Given the description of an element on the screen output the (x, y) to click on. 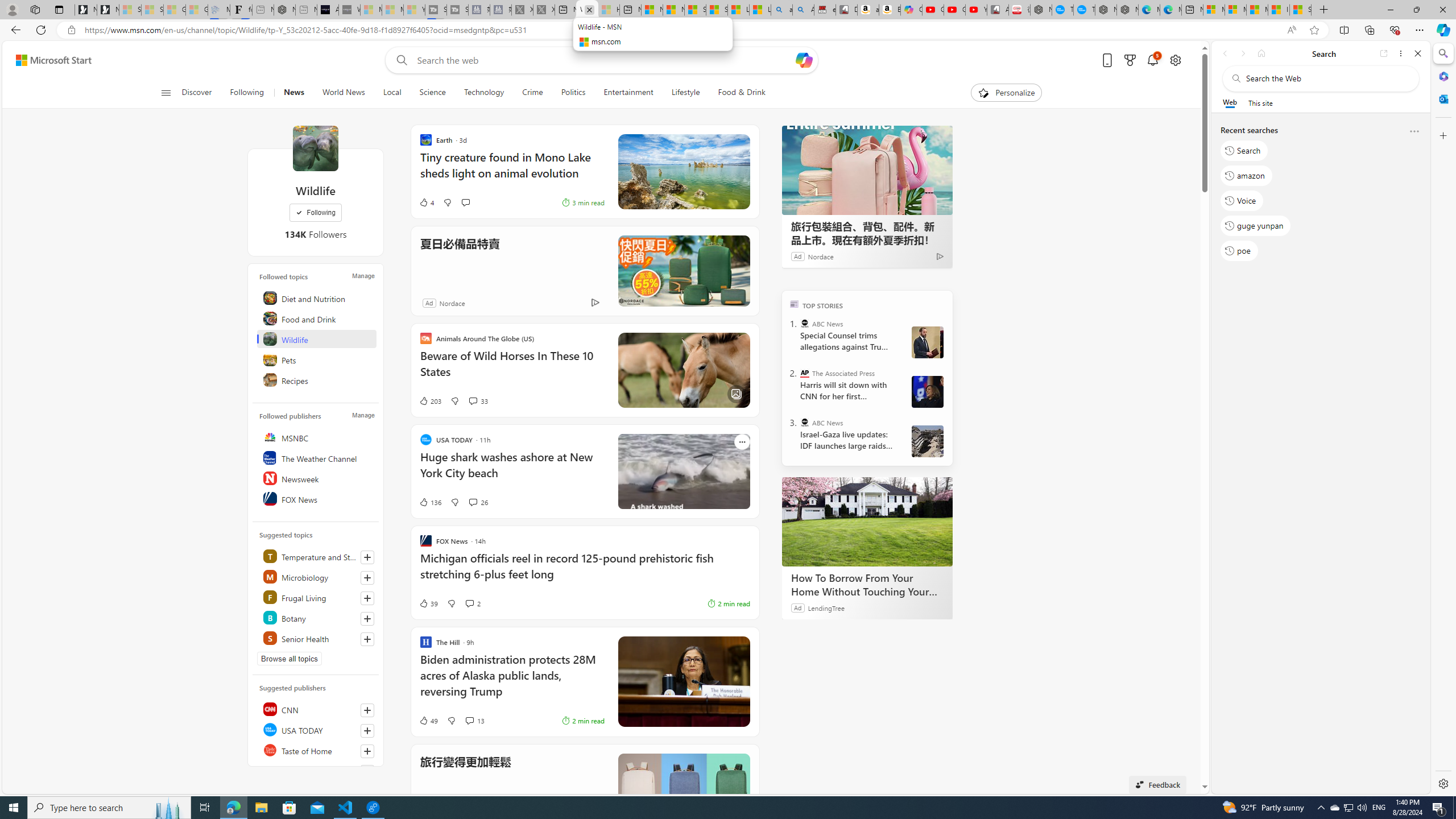
Food & Drink (737, 92)
Food & Drink (741, 92)
How To Borrow From Your Home Without Touching Your Mortgage (866, 521)
CNN (317, 709)
The most popular Google 'how to' searches (1083, 9)
Amazon Echo Dot PNG - Search Images (802, 9)
Local (391, 92)
Follow this source (367, 771)
